Given the description of an element on the screen output the (x, y) to click on. 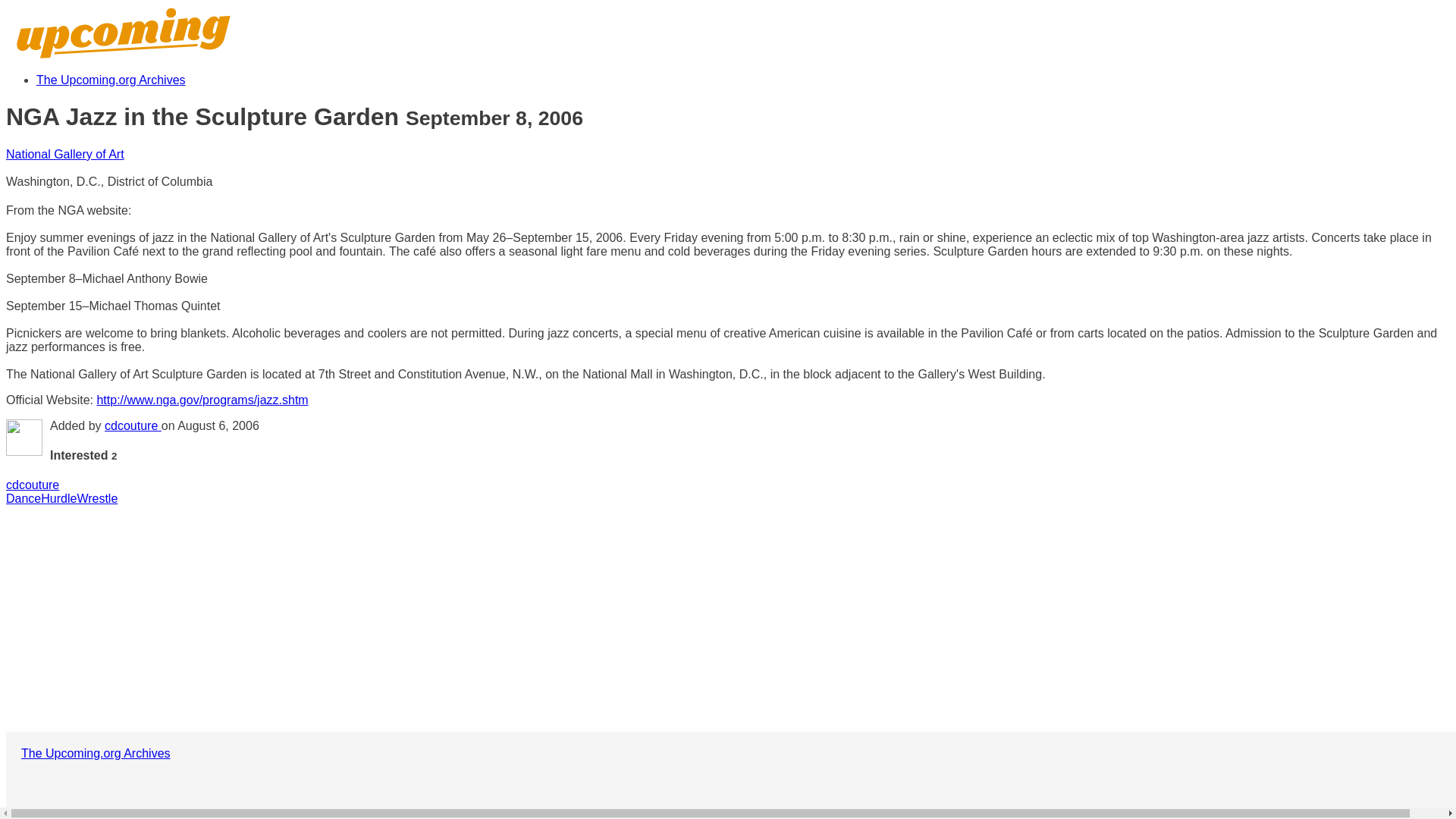
National Gallery of Art (64, 154)
cdcouture (32, 484)
The Upcoming.org Archives (111, 79)
cdcouture (132, 425)
